Given the description of an element on the screen output the (x, y) to click on. 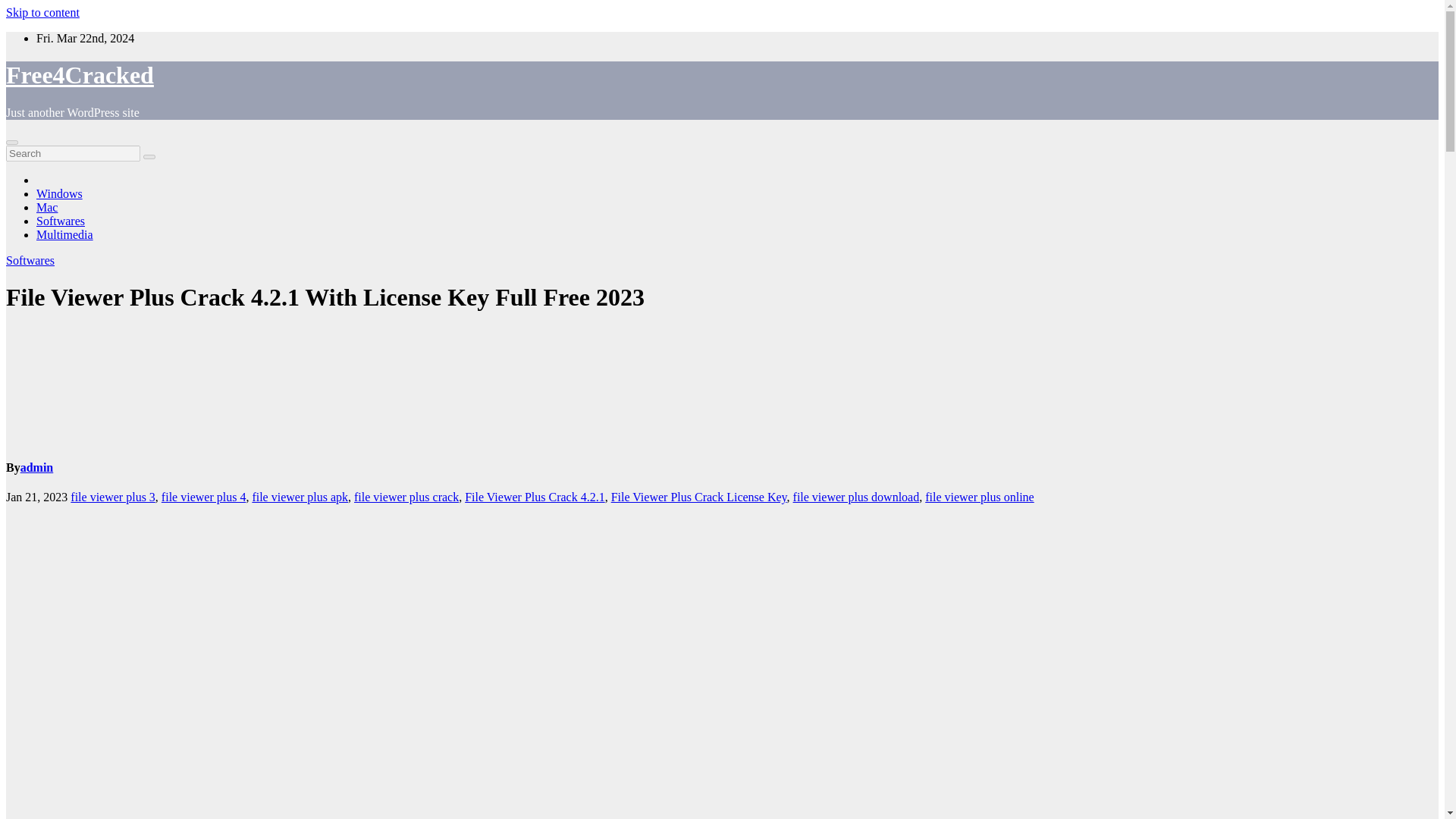
Windows (59, 193)
Free4Cracked (79, 74)
Multimedia (64, 234)
file viewer plus apk (299, 496)
Multimedia (64, 234)
Mac (47, 206)
file viewer plus 4 (203, 496)
file viewer plus crack (405, 496)
File Viewer Plus Crack License Key (699, 496)
Windows (59, 193)
file viewer plus 3 (112, 496)
Skip to content (42, 11)
file viewer plus download (856, 496)
Softwares (30, 259)
